Given the description of an element on the screen output the (x, y) to click on. 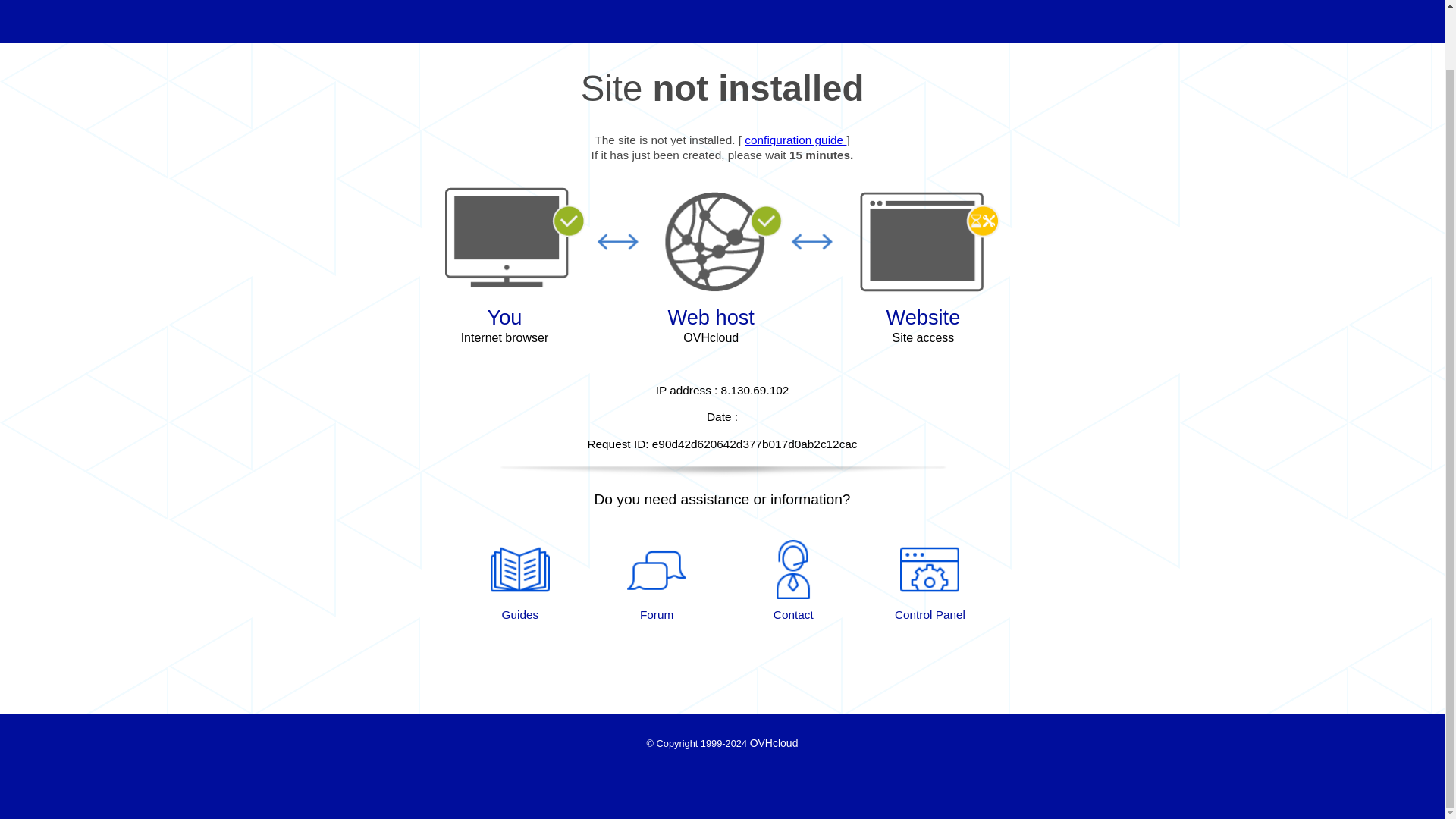
configuration guide (794, 139)
Contact (793, 581)
Control Panel (930, 581)
Control Panel (930, 581)
Forum (656, 581)
Guides (794, 139)
OVHcloud (773, 743)
Contact (793, 581)
Guides (519, 581)
Guides (519, 581)
Forum (656, 581)
